Given the description of an element on the screen output the (x, y) to click on. 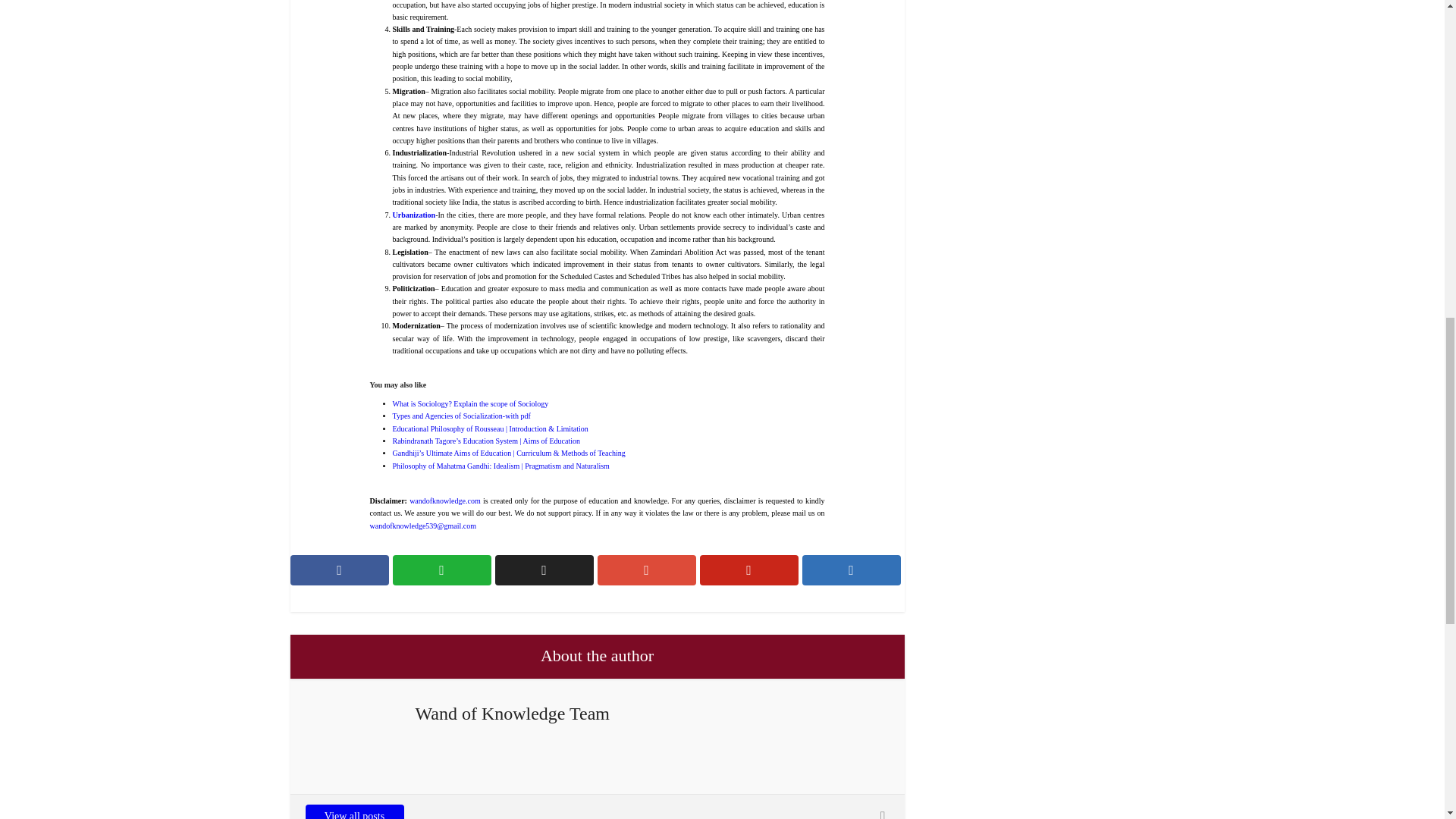
Urbanization (414, 214)
wandofknowledge.com (444, 500)
What is Sociology? Explain the scope of Sociology (470, 403)
Types and Agencies of Socialization-with pdf (462, 415)
View all posts (353, 811)
